Given the description of an element on the screen output the (x, y) to click on. 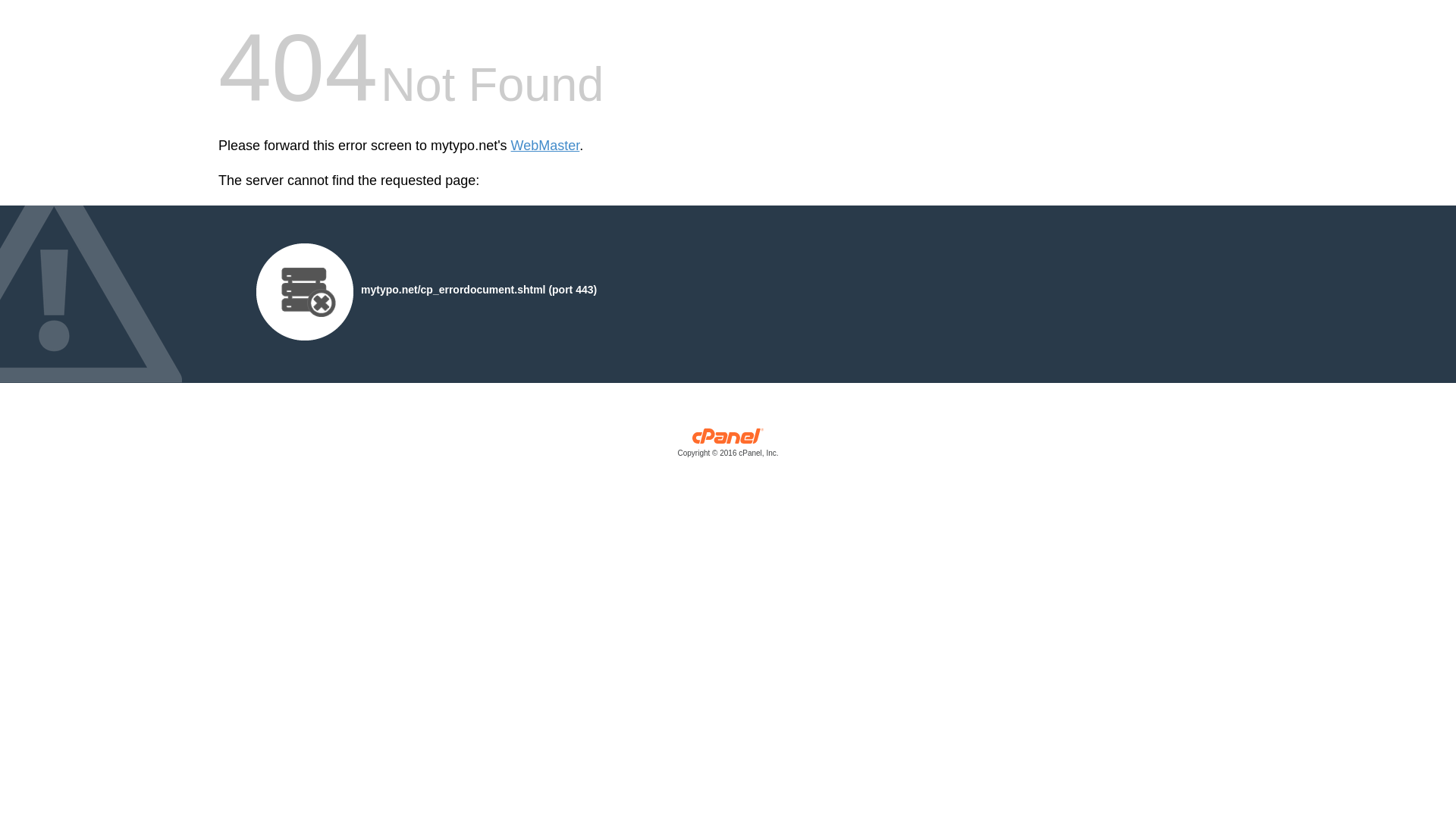
cPanel, Inc. (727, 446)
WebMaster (545, 145)
